Given the description of an element on the screen output the (x, y) to click on. 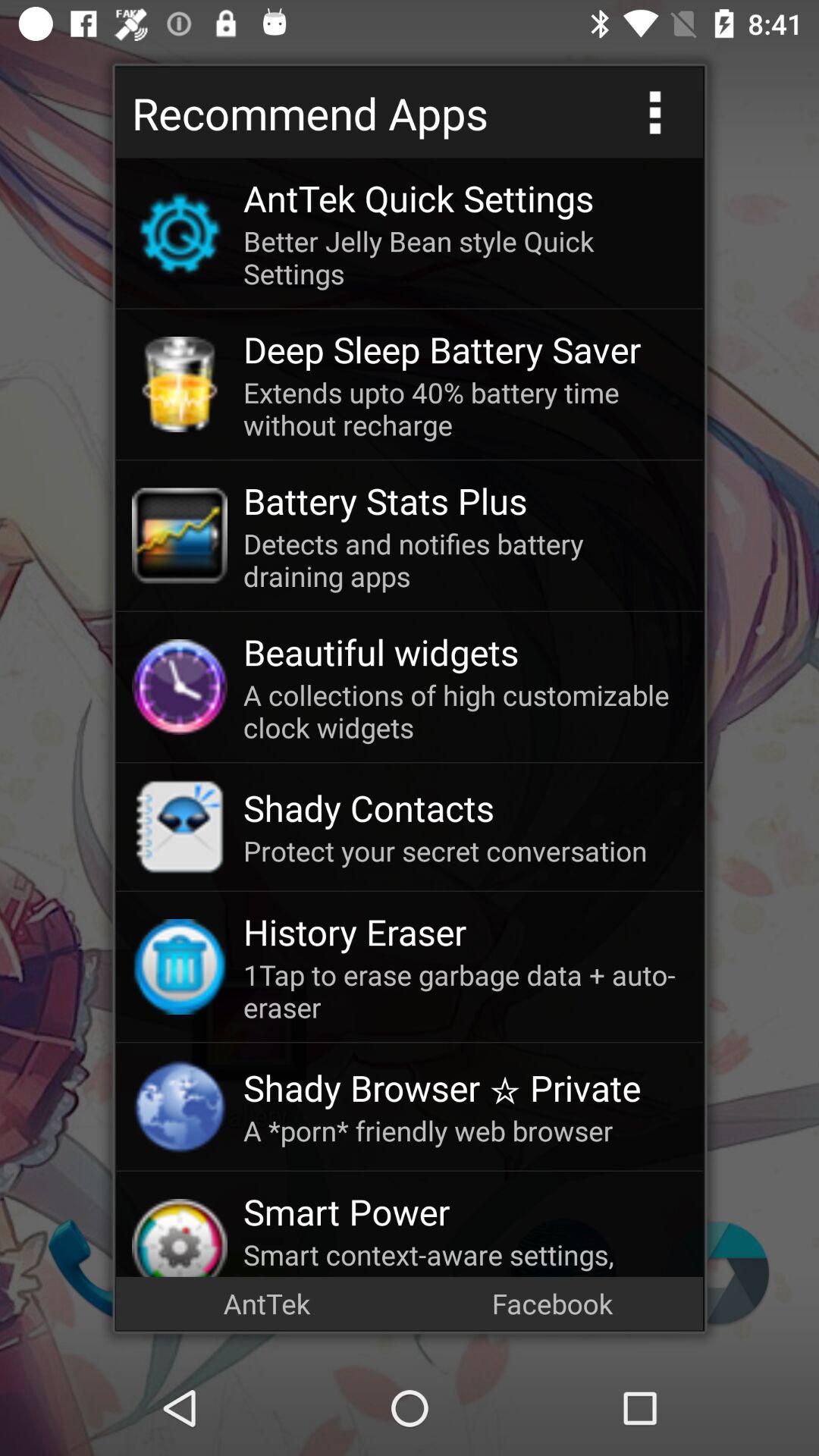
turn on the app above deep sleep battery icon (465, 257)
